Given the description of an element on the screen output the (x, y) to click on. 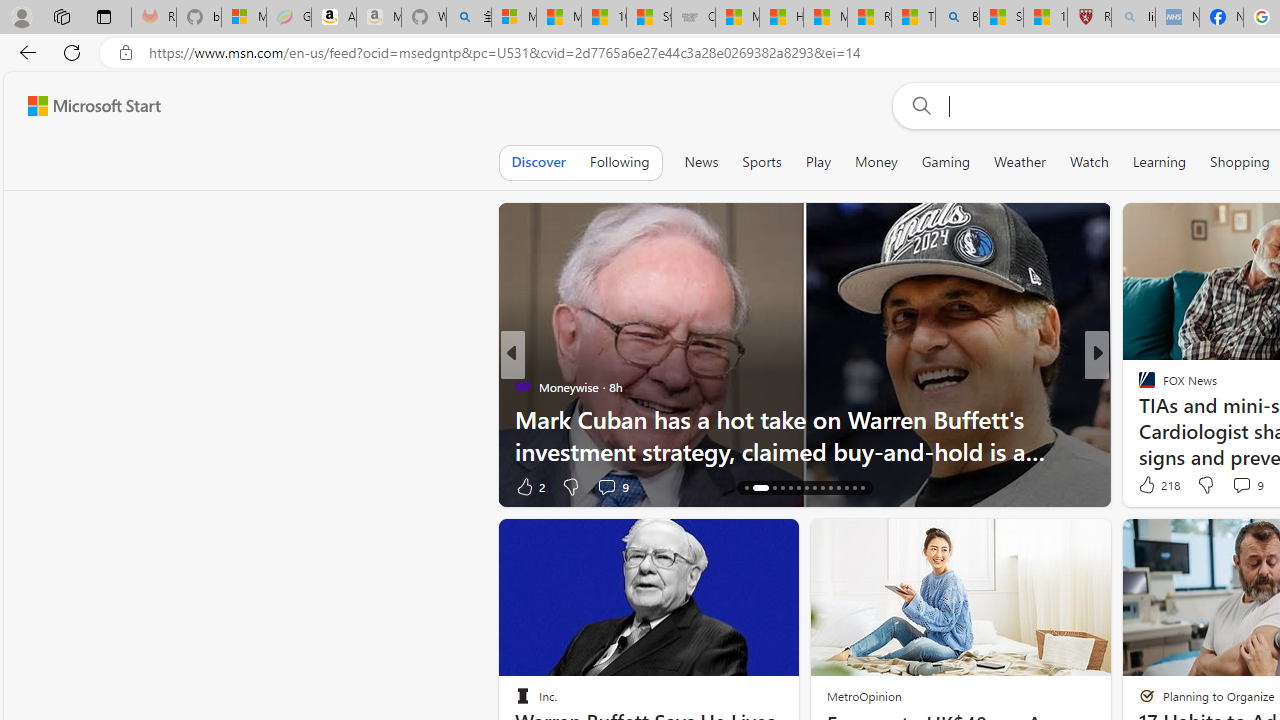
AutomationID: tab-20 (797, 487)
AutomationID: tab-27 (853, 487)
View comments 5 Comment (1229, 485)
The Hearty Soul (1138, 386)
AutomationID: tab-25 (838, 487)
Hide this story (738, 542)
AutomationID: tab-24 (829, 487)
AutomationID: tab-15 (746, 487)
